Given the description of an element on the screen output the (x, y) to click on. 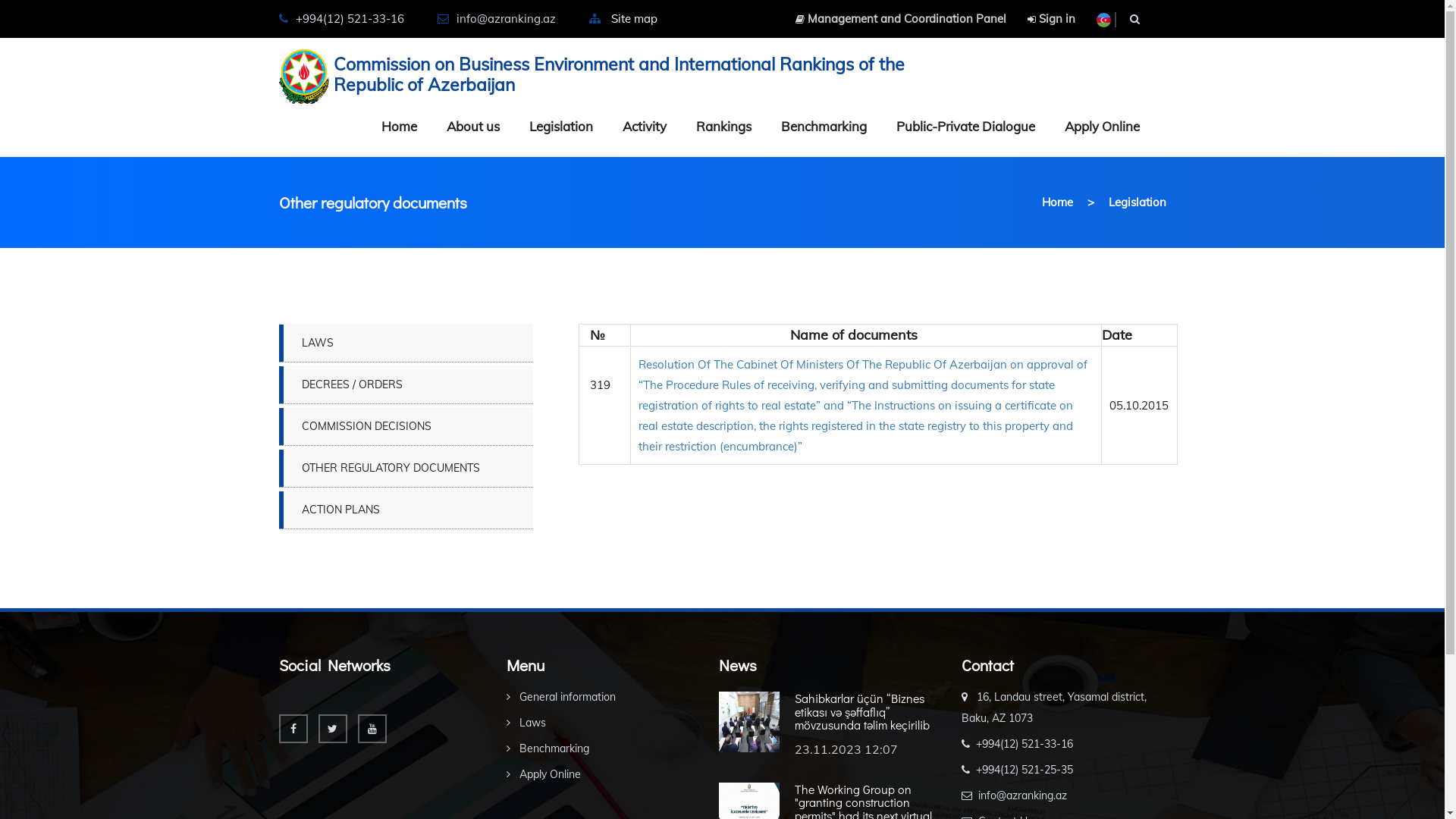
Apply Online Element type: text (543, 774)
+994(12) 521-25-35 Element type: text (1017, 769)
Management and Coordination Panel Element type: text (899, 18)
COMMISSION DECISIONS Element type: text (406, 426)
Home Element type: text (1057, 201)
Public-Private Dialogue Element type: text (965, 126)
16, Landau street, Yasamal district, Baku, AZ 1073 Element type: text (1053, 707)
General information Element type: text (560, 696)
DECREES / ORDERS Element type: text (406, 384)
info@azranking.az Element type: text (1013, 795)
Apply Online Element type: text (1101, 126)
Laws Element type: text (526, 722)
Sign in Element type: text (1050, 18)
OTHER REGULATORY DOCUMENTS Element type: text (406, 467)
Activity Element type: text (643, 126)
ACTION PLANS Element type: text (406, 509)
Benchmarking Element type: text (823, 126)
+994(12) 521-33-16 Element type: text (1017, 743)
About us Element type: text (471, 126)
Benchmarking Element type: text (547, 748)
LAWS Element type: text (406, 342)
Rankings Element type: text (723, 126)
Legislation Element type: text (561, 126)
Home Element type: text (398, 126)
Site map Element type: text (634, 18)
